Given the description of an element on the screen output the (x, y) to click on. 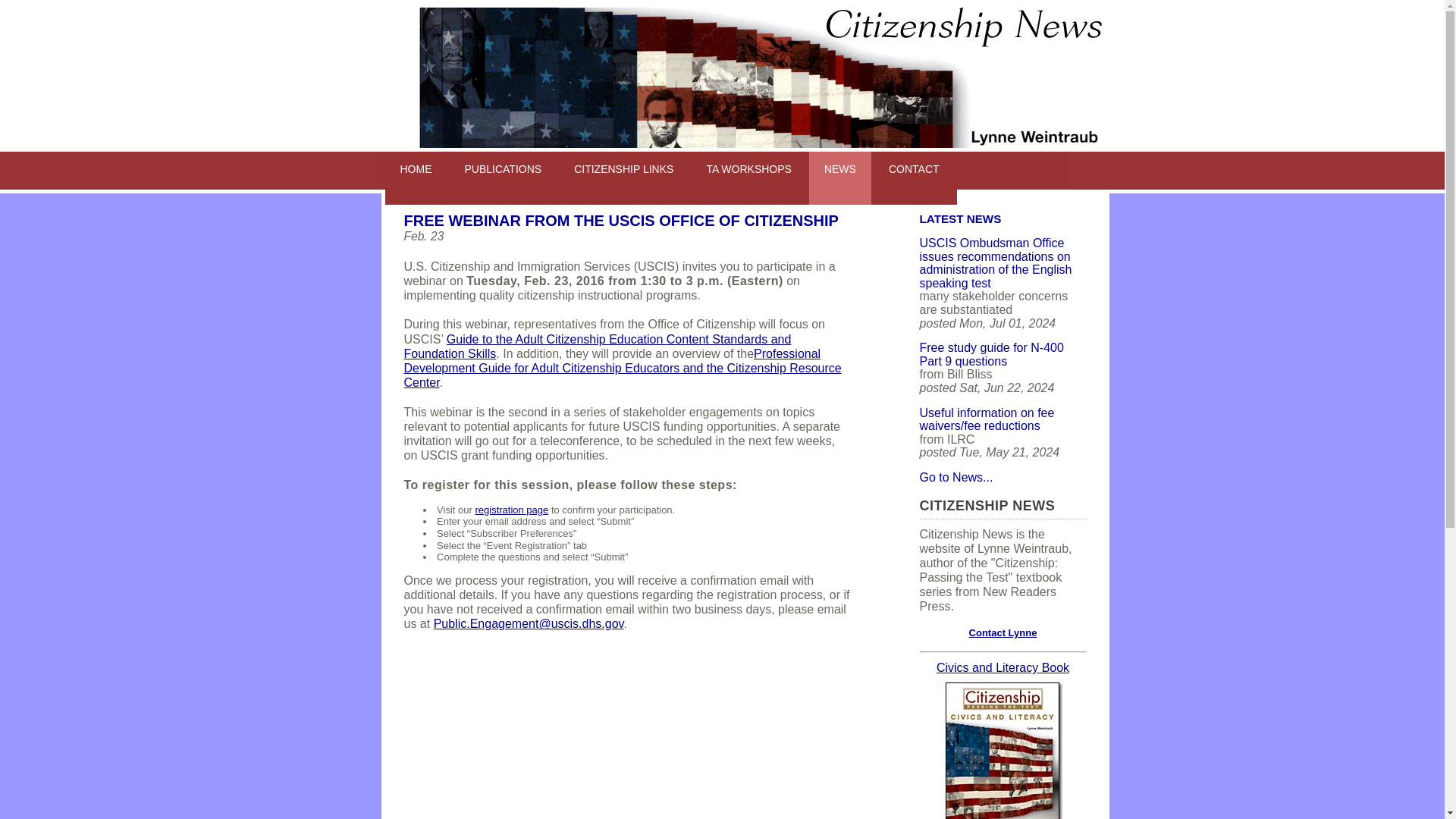
from ILRC (986, 419)
CITIZENSHIP LINKS (623, 177)
TA WORKSHOPS (748, 177)
many stakeholder concerns are substantiated (994, 262)
Contact Lynne (1002, 632)
NEWS (839, 177)
Contact (914, 177)
News (839, 177)
Go to News... (955, 477)
Free study guide for N-400 Part 9 questions (990, 354)
HOME (415, 177)
registration page (511, 509)
from Bill Bliss (990, 354)
Civics and Literacy Book (1003, 674)
